Given the description of an element on the screen output the (x, y) to click on. 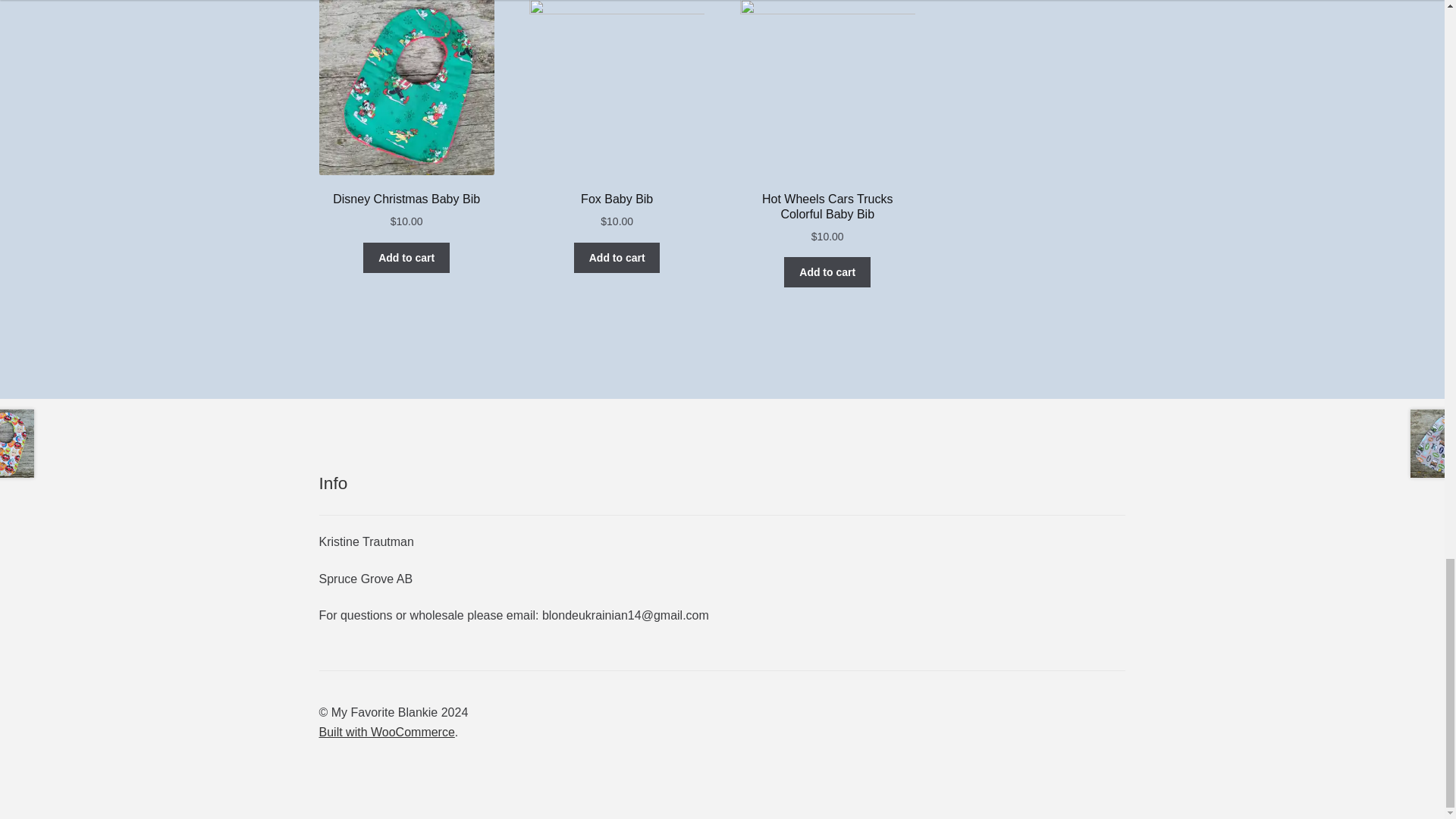
Add to cart (617, 257)
Built with WooCommerce (386, 731)
Add to cart (405, 257)
WooCommerce - The Best eCommerce Platform for WordPress (386, 731)
Add to cart (827, 272)
